Given the description of an element on the screen output the (x, y) to click on. 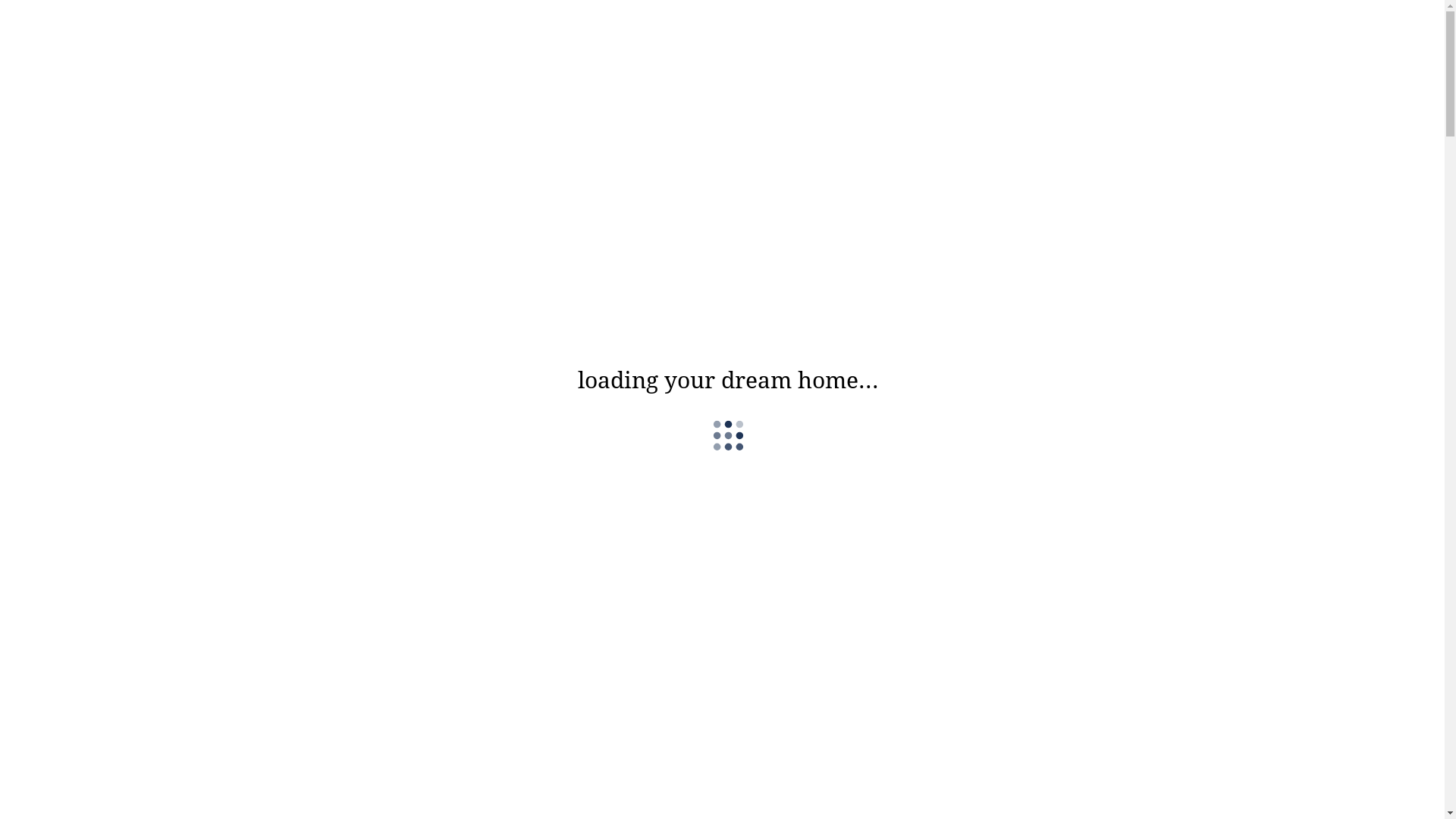
16762 MISSION WAY, SONOMA Element type: text (722, 724)
Enable Audio Element type: text (691, 335)
LOCATION Element type: text (70, 110)
16762 Mission Way, Sonoma Element type: text (228, 37)
FEATURES Element type: text (70, 94)
GALLERY Element type: text (66, 79)
SCHEDULE & CONTACT Element type: text (100, 125)
Toggle navigation Element type: text (50, 37)
